Given the description of an element on the screen output the (x, y) to click on. 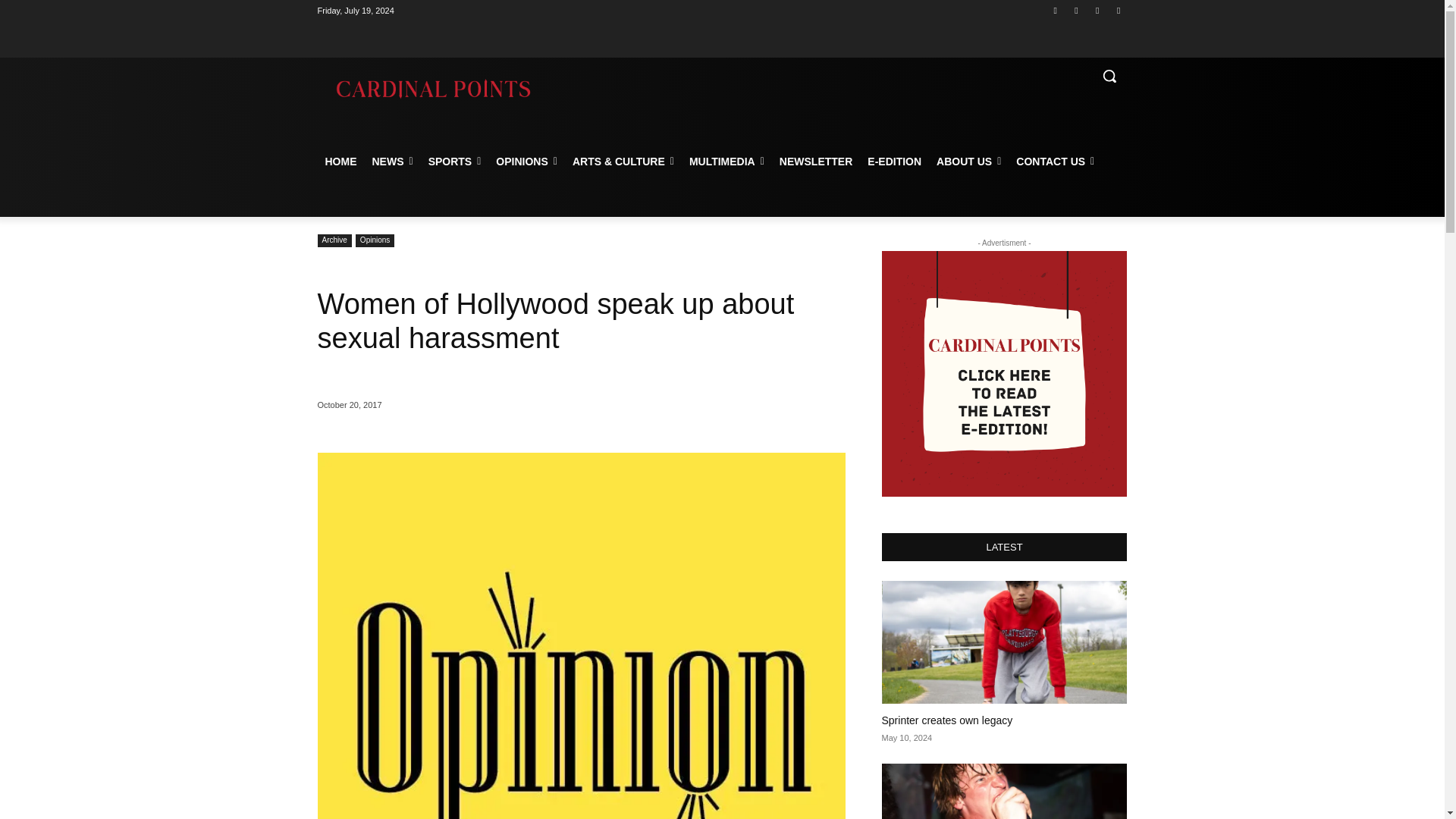
NEWS (392, 161)
SPORTS (454, 161)
Facebook (1055, 9)
Youtube (1117, 9)
HOME (340, 161)
Twitter (1097, 9)
Instagram (1075, 9)
